Given the description of an element on the screen output the (x, y) to click on. 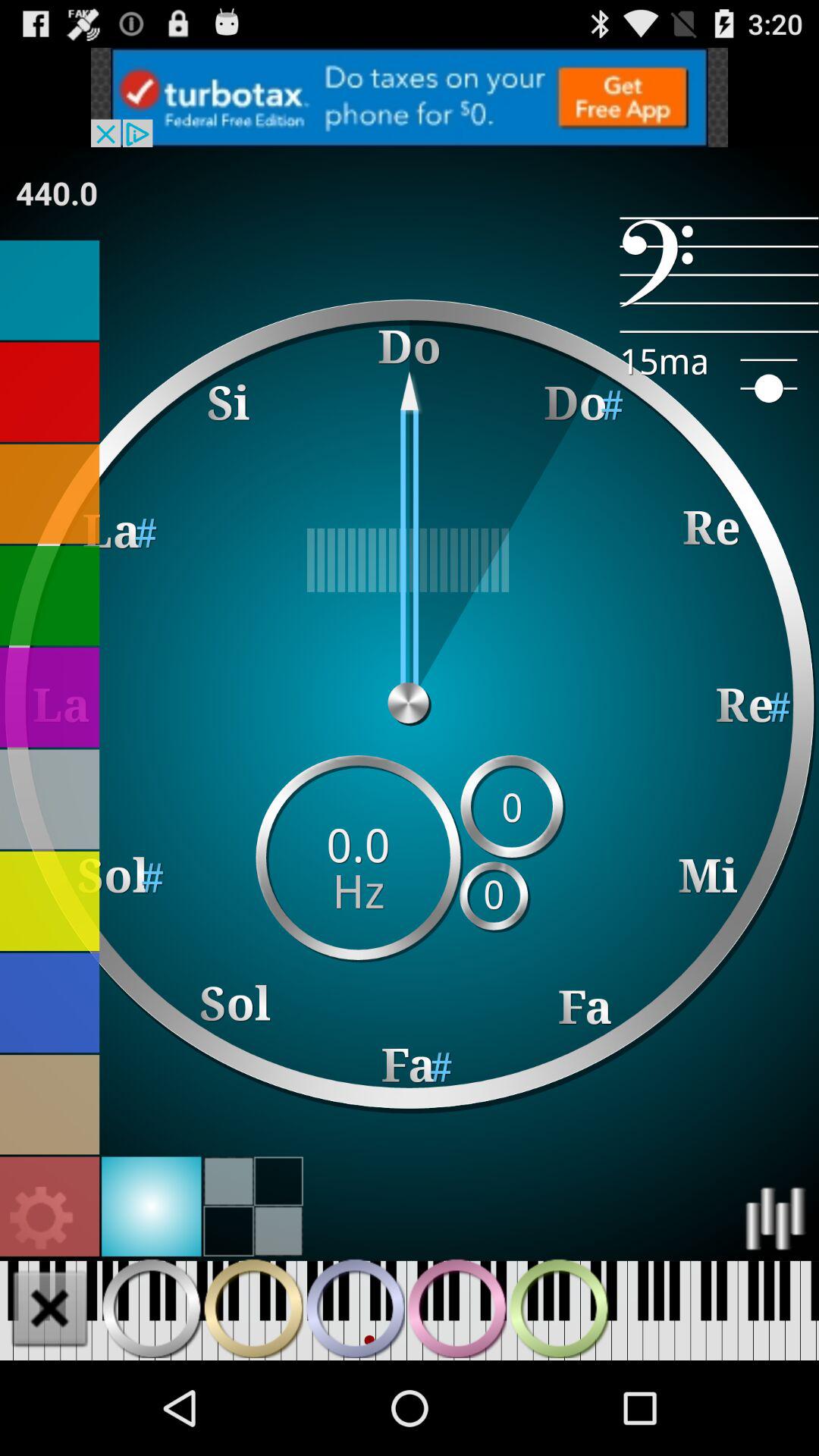
change color to orange (49, 493)
